Given the description of an element on the screen output the (x, y) to click on. 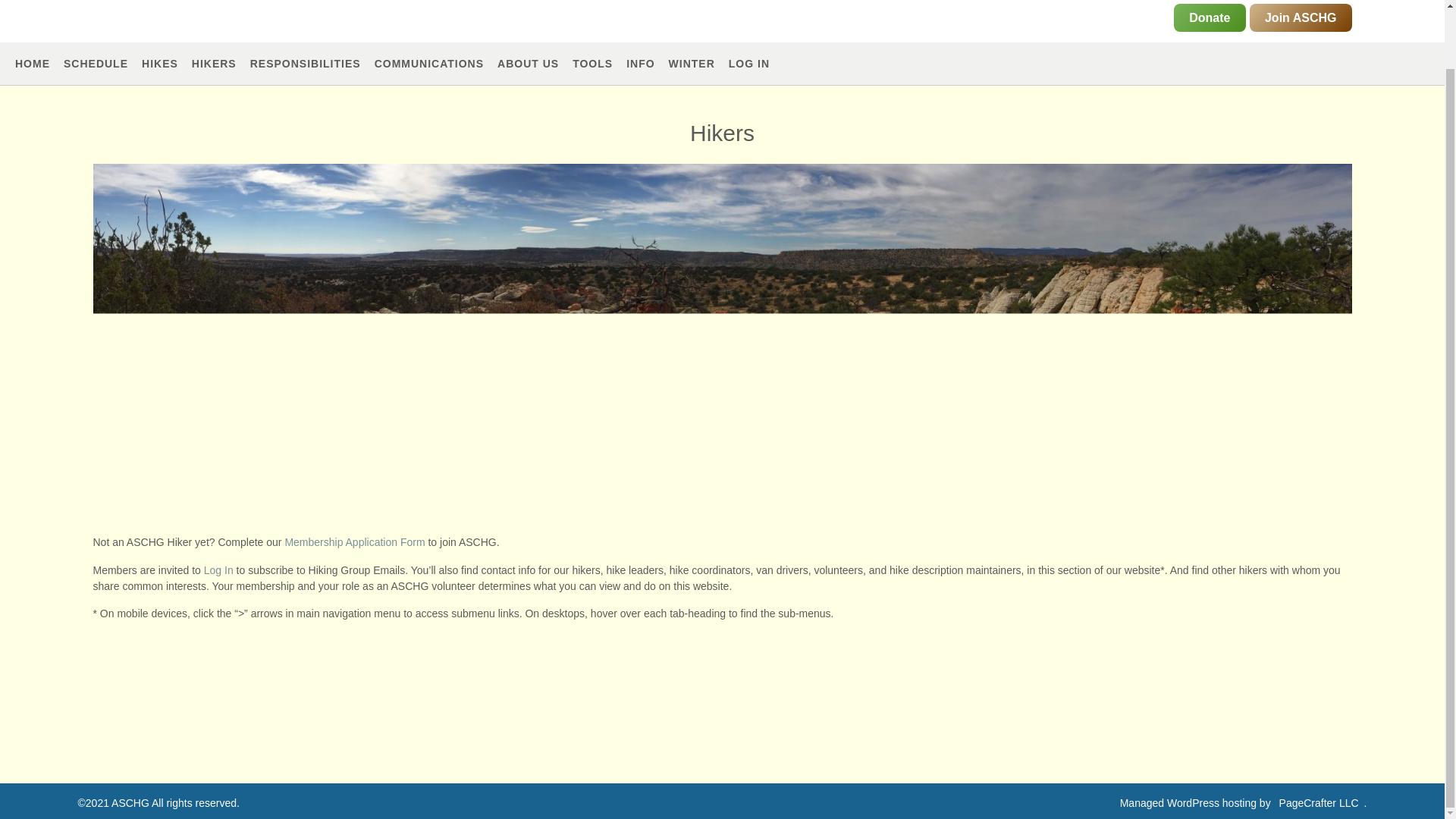
LOG IN (749, 64)
Join ASCHG (1300, 17)
INFO (639, 64)
HIKES (159, 64)
WINTER (691, 64)
HOME (31, 64)
TOOLS (592, 64)
ABOUT US (528, 64)
Donate (1208, 17)
SCHEDULE (96, 64)
COMMUNICATIONS (428, 64)
HIKERS (213, 64)
RESPONSIBILITIES (305, 64)
